Given the description of an element on the screen output the (x, y) to click on. 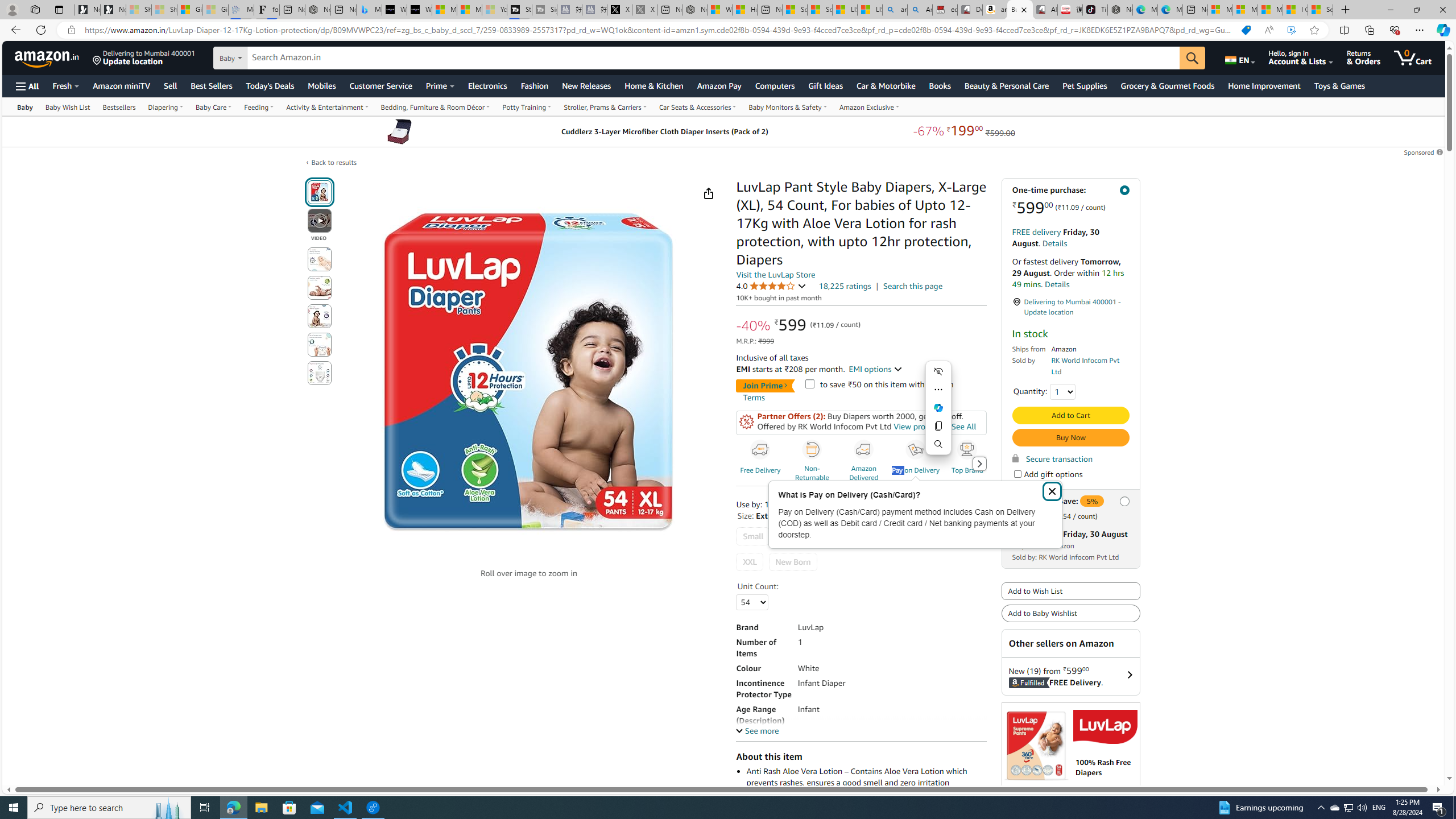
All Cubot phones (1044, 9)
Enhance video (1291, 29)
Hide menu (938, 370)
X - Sleeping (644, 9)
